Given the description of an element on the screen output the (x, y) to click on. 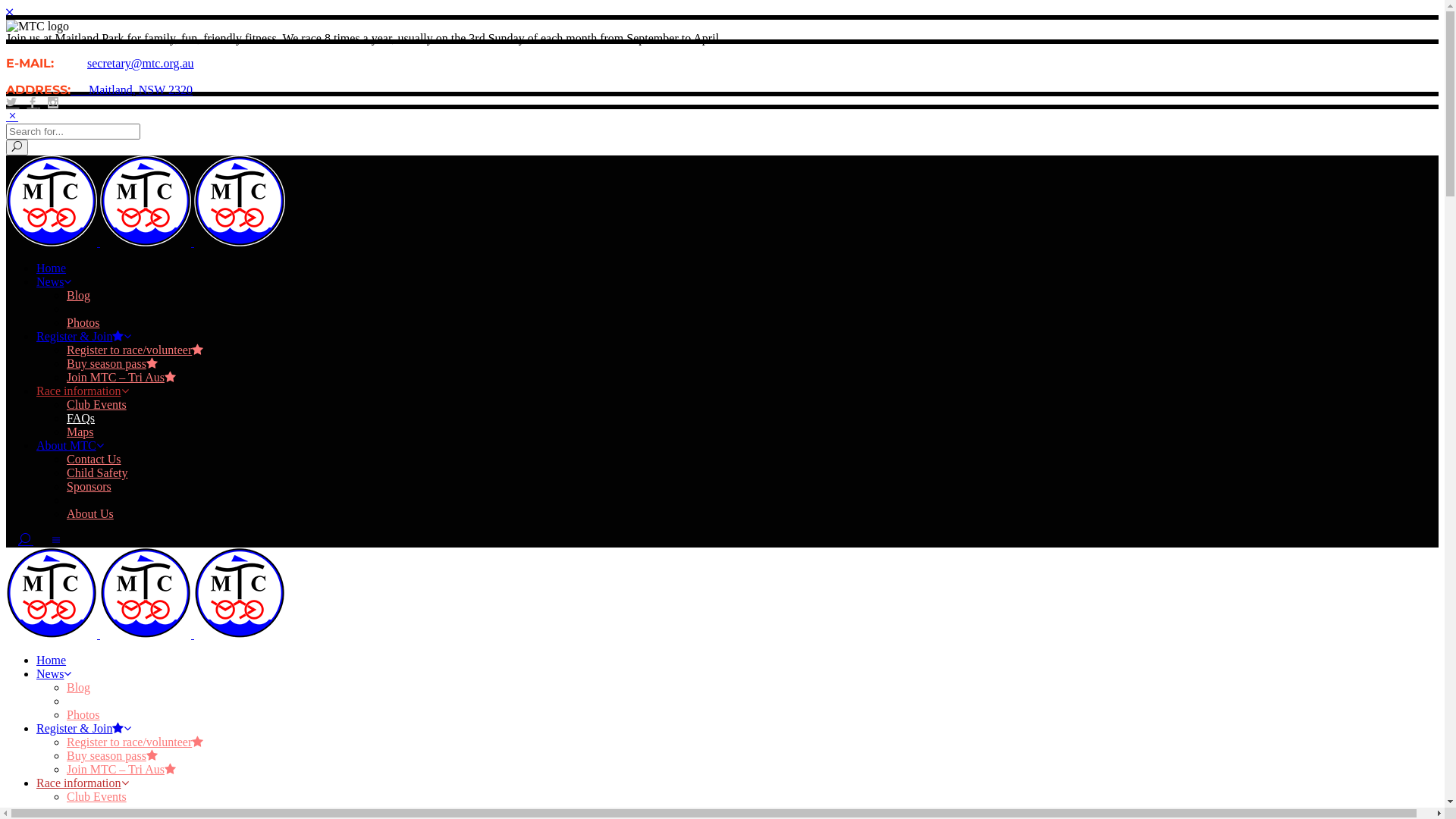
Register to race/volunteer Element type: text (134, 349)
Register & Join Element type: text (83, 727)
Club Events Element type: text (96, 404)
Race information Element type: text (82, 782)
Buy season pass Element type: text (111, 755)
Home Element type: text (50, 267)
Club Events Element type: text (96, 796)
      Maitland, NSW 2320 Element type: text (131, 89)
Blog Element type: text (78, 294)
News Element type: text (53, 281)
Contact Us Element type: text (93, 458)
Register to race/volunteer Element type: text (134, 741)
Home Element type: text (50, 659)
About MTC Element type: text (69, 445)
FAQs Element type: text (80, 417)
Maps Element type: text (80, 431)
News Element type: text (53, 673)
Register & Join Element type: text (83, 335)
About Us Element type: text (89, 513)
Buy season pass Element type: text (111, 363)
FAQs Element type: text (80, 809)
Child Safety Element type: text (96, 472)
Photos Element type: text (83, 714)
Sponsors Element type: text (88, 486)
Blog Element type: text (78, 686)
secretary@mtc.org.au Element type: text (140, 62)
Race information Element type: text (82, 390)
Photos Element type: text (83, 322)
